Given the description of an element on the screen output the (x, y) to click on. 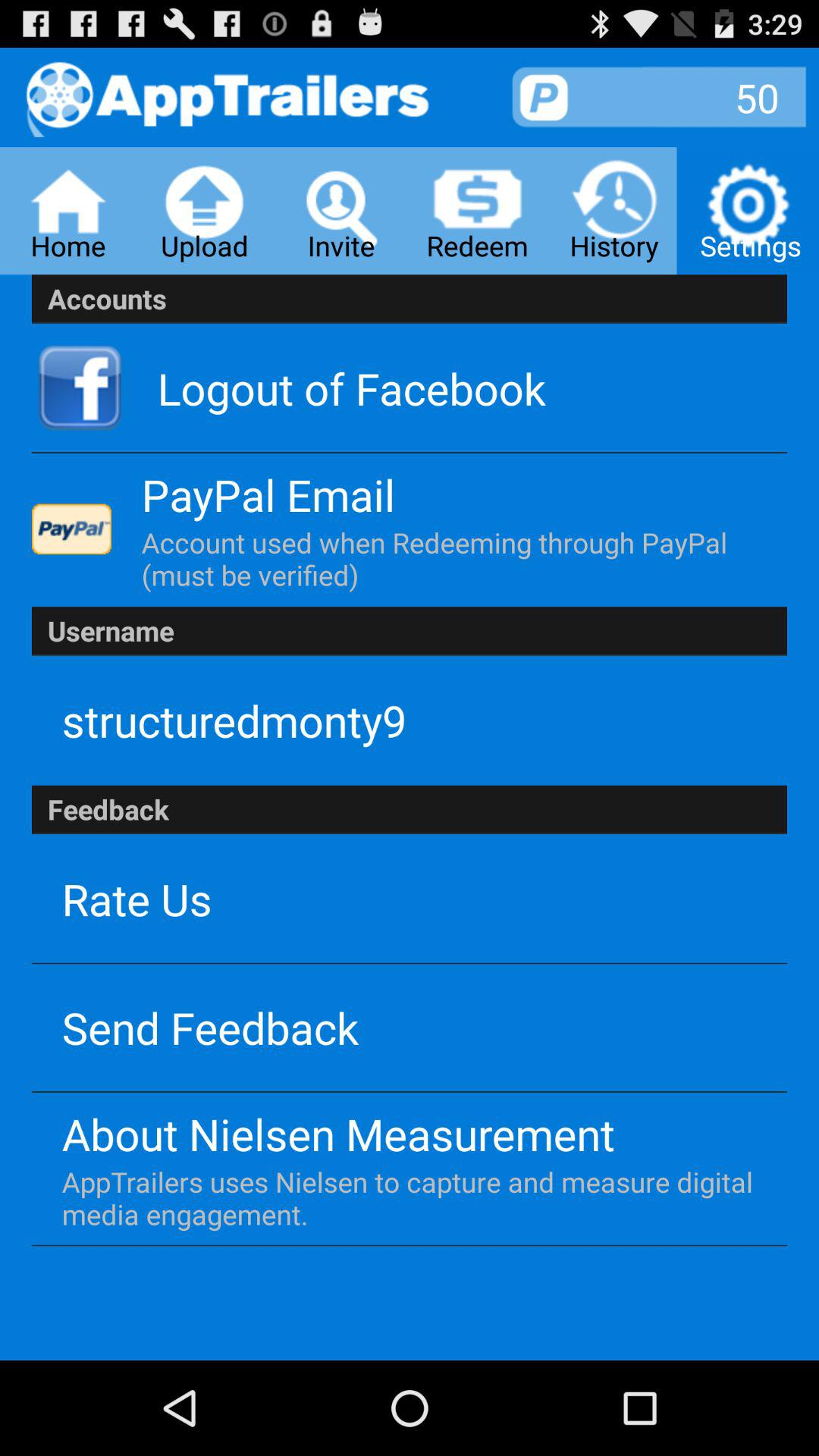
open about nielsen measurement icon (337, 1133)
